Given the description of an element on the screen output the (x, y) to click on. 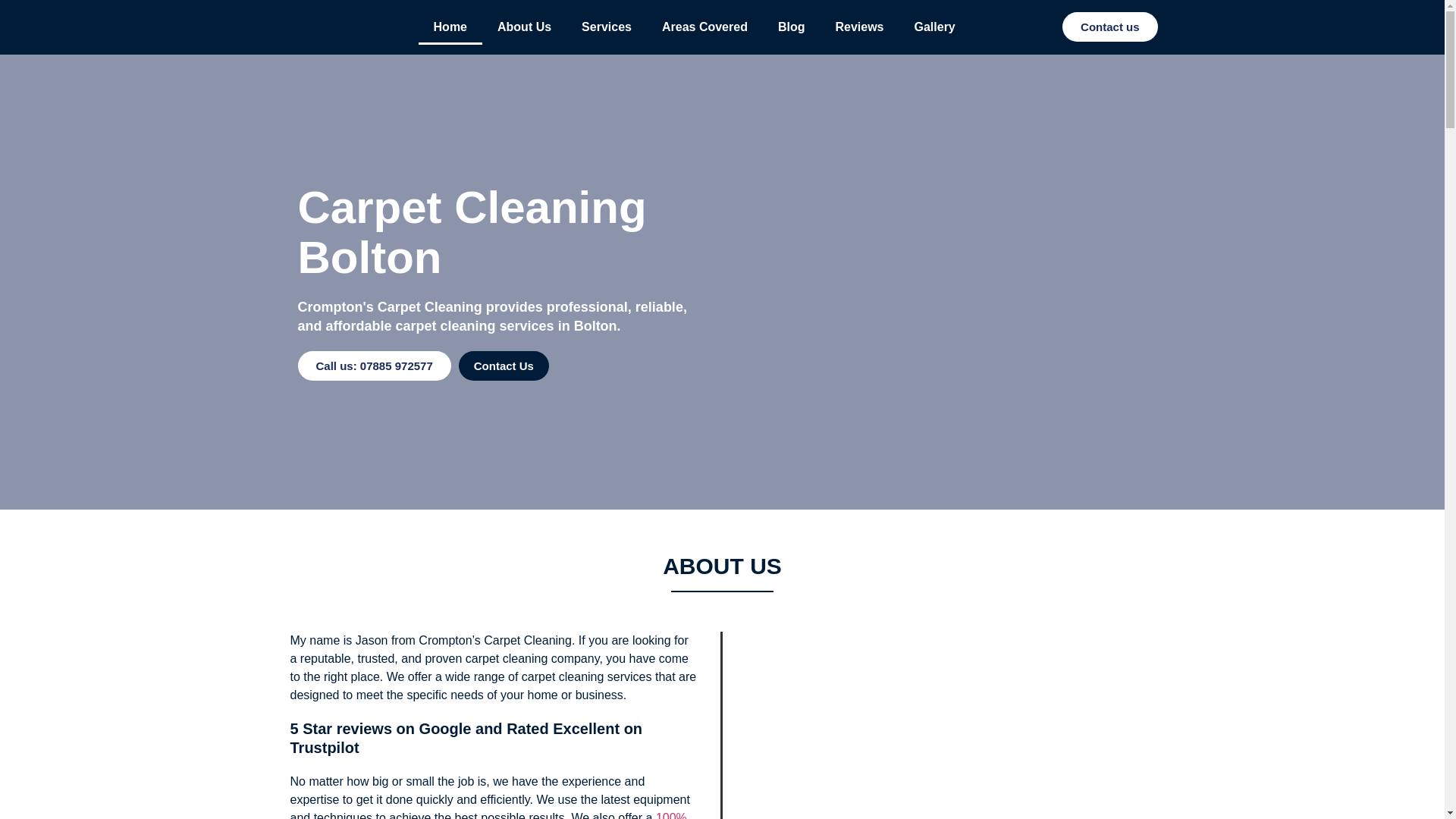
Services (606, 27)
About Us (523, 27)
Home (450, 27)
